Given the description of an element on the screen output the (x, y) to click on. 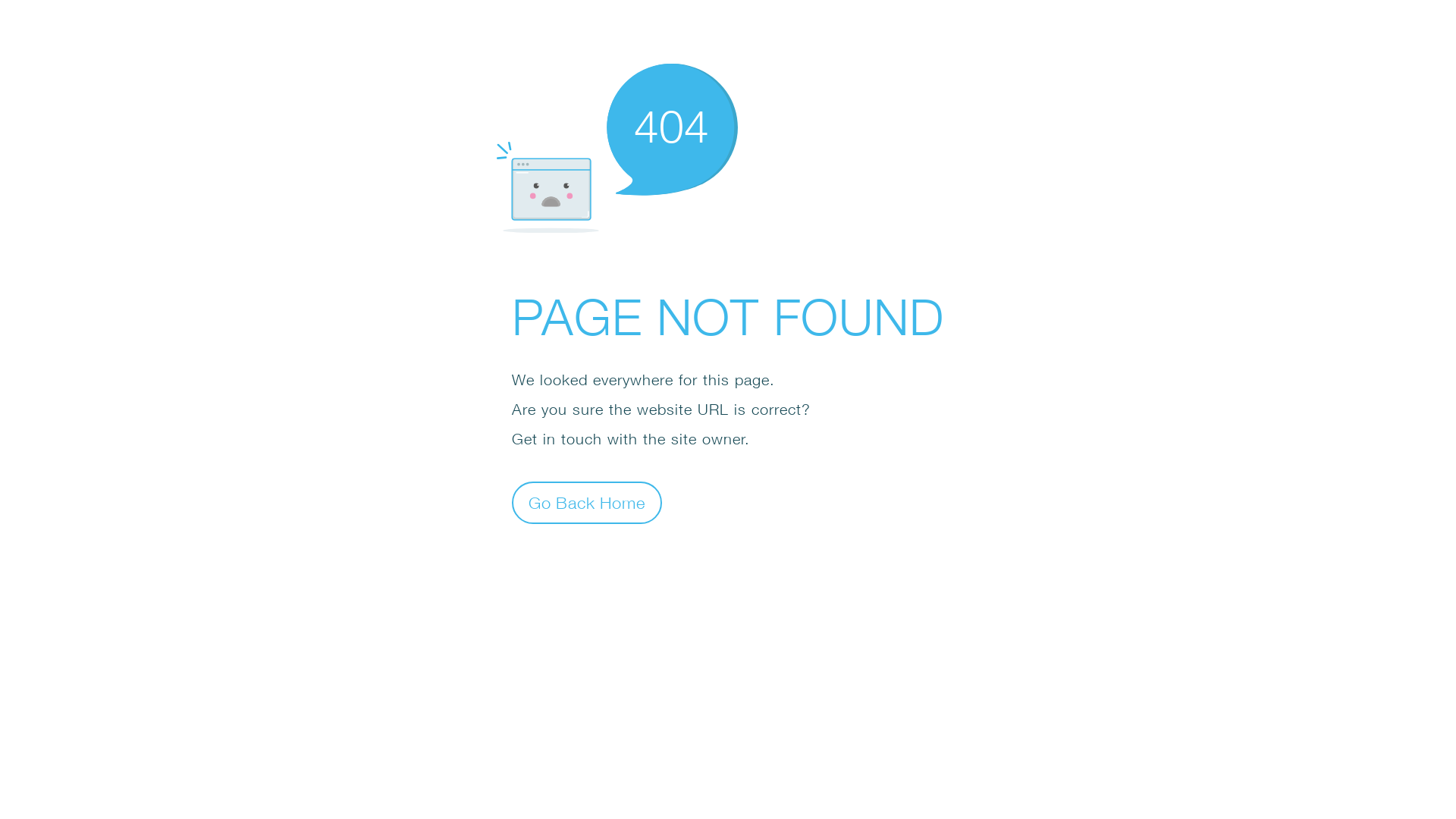
Go Back Home Element type: text (586, 502)
